Given the description of an element on the screen output the (x, y) to click on. 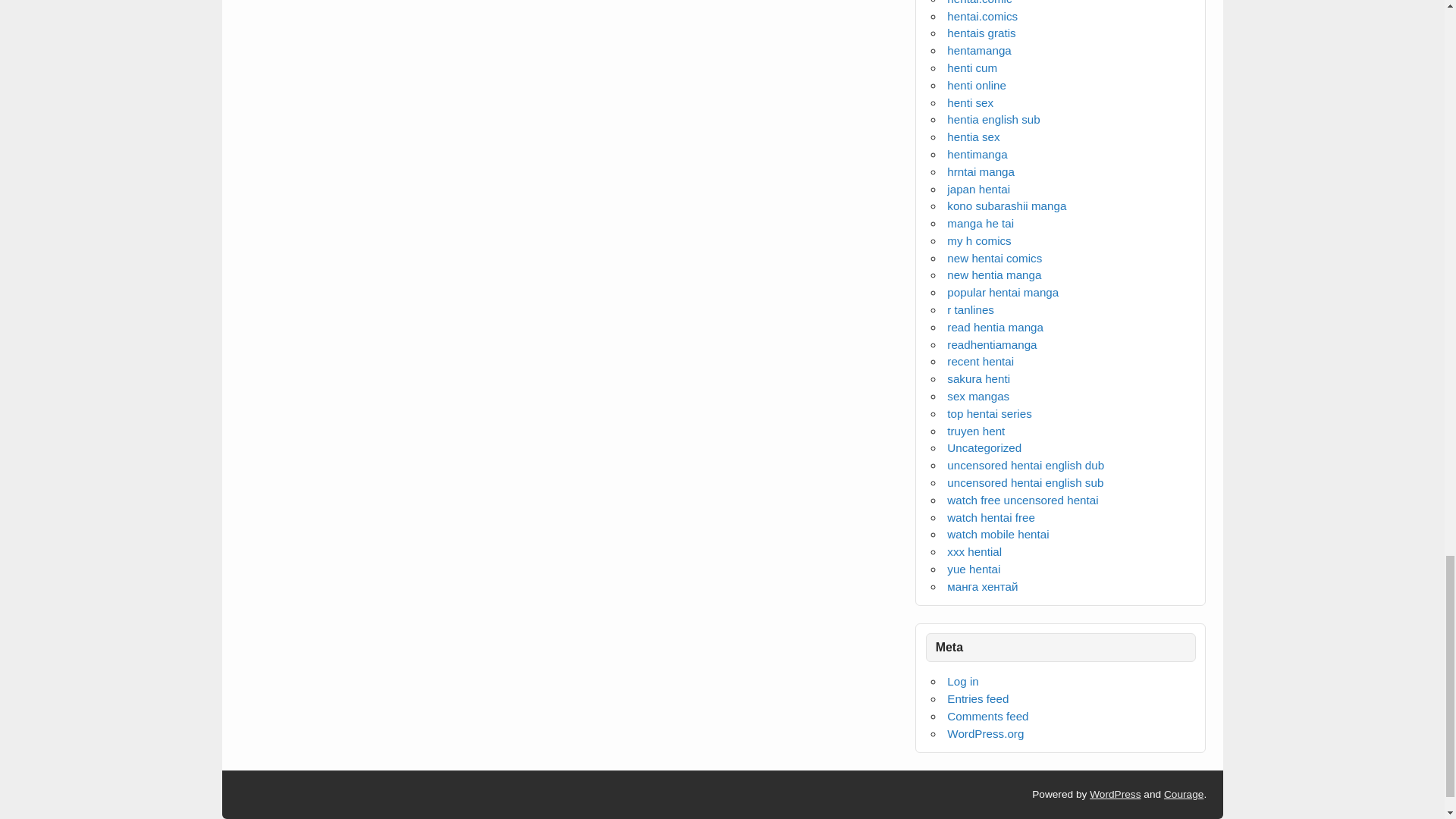
Courage WordPress Theme (1183, 794)
WordPress (1114, 794)
